Given the description of an element on the screen output the (x, y) to click on. 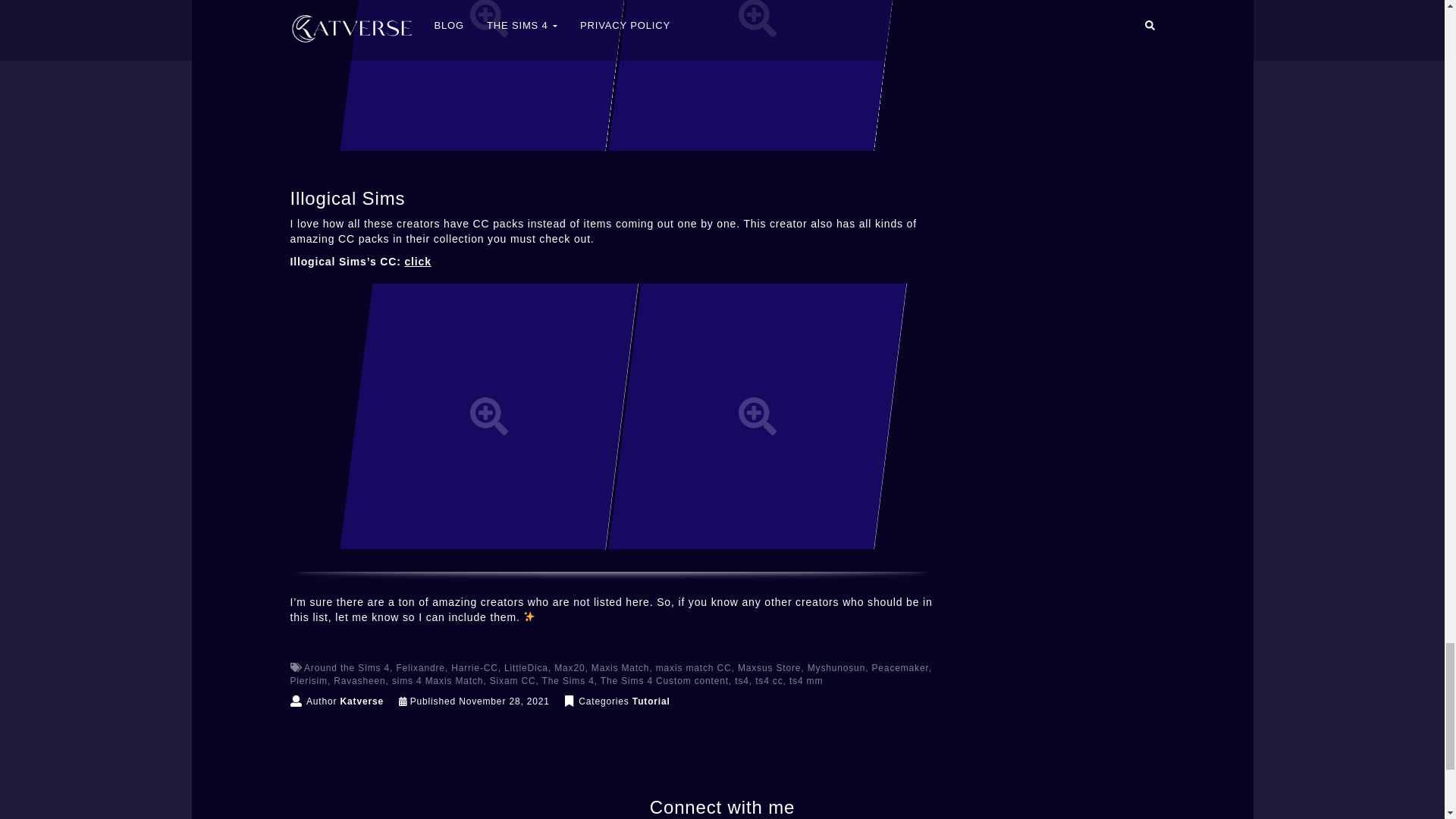
View all posts in Tutorial (650, 701)
